Given the description of an element on the screen output the (x, y) to click on. 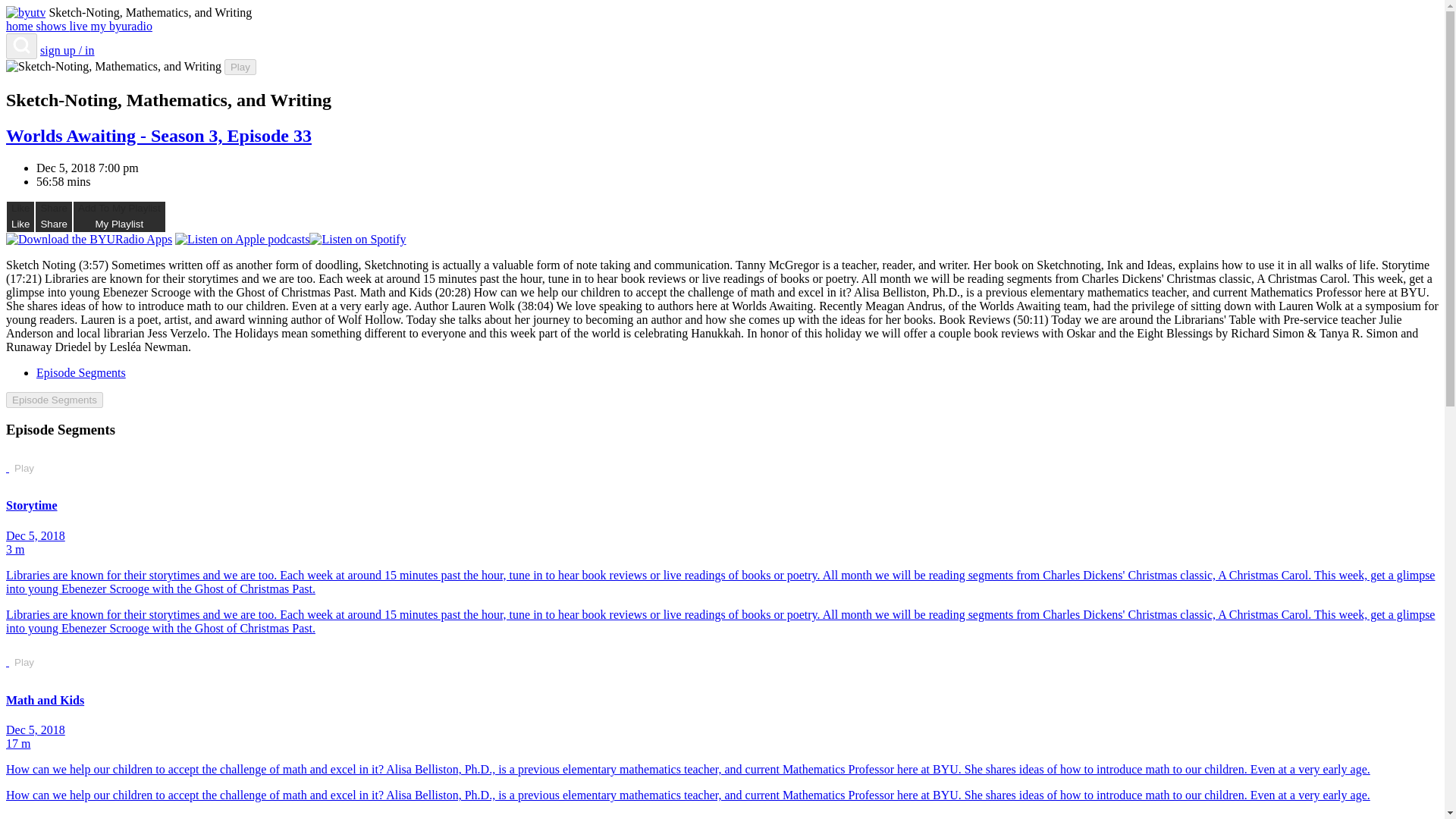
Play (23, 816)
Listen on Spotify (357, 239)
Play (19, 216)
Download the BYURadio Apps (23, 467)
Play (88, 239)
Play (23, 662)
home (240, 66)
live (20, 25)
